Given the description of an element on the screen output the (x, y) to click on. 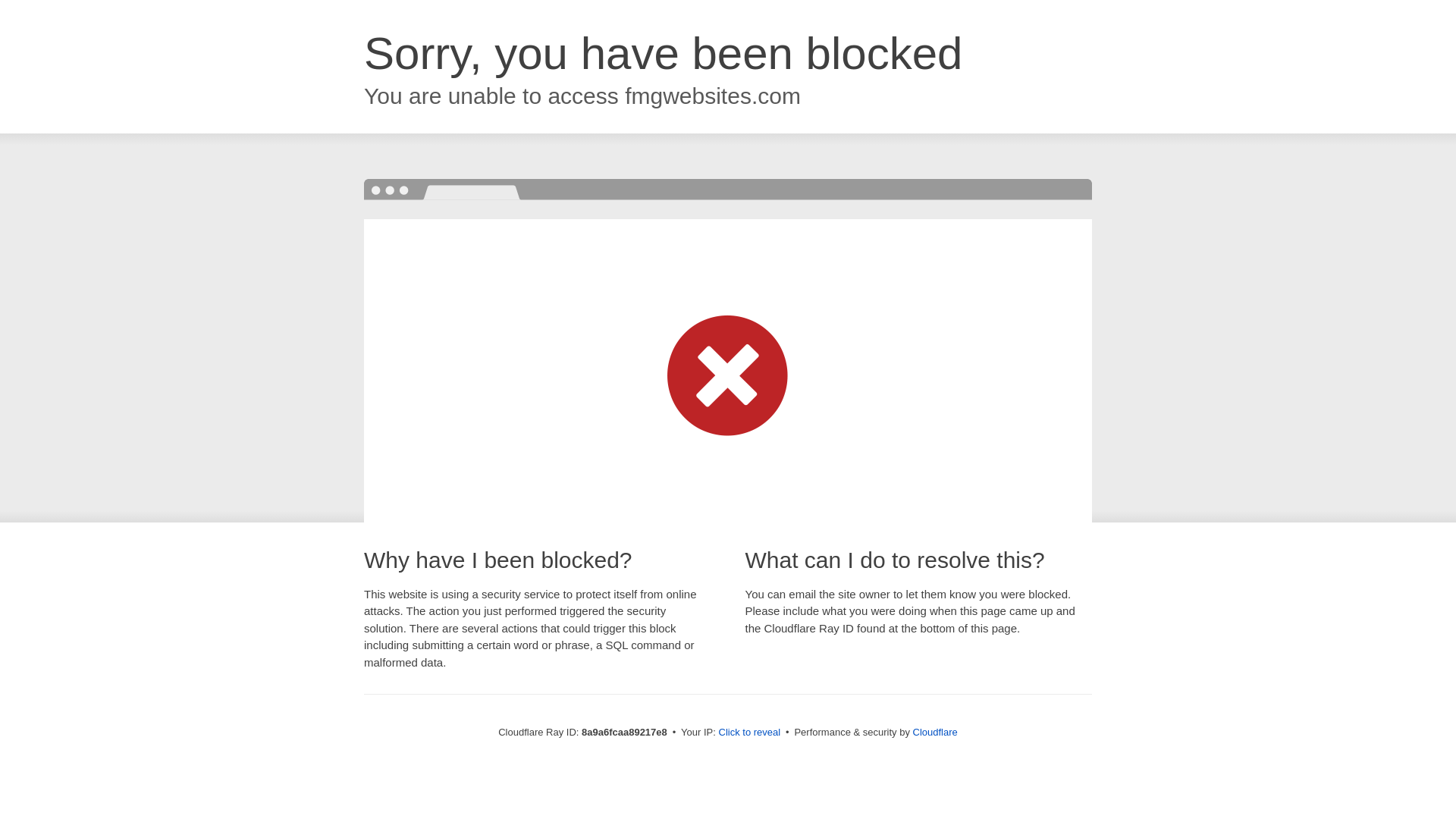
Cloudflare (935, 731)
Click to reveal (749, 732)
